Given the description of an element on the screen output the (x, y) to click on. 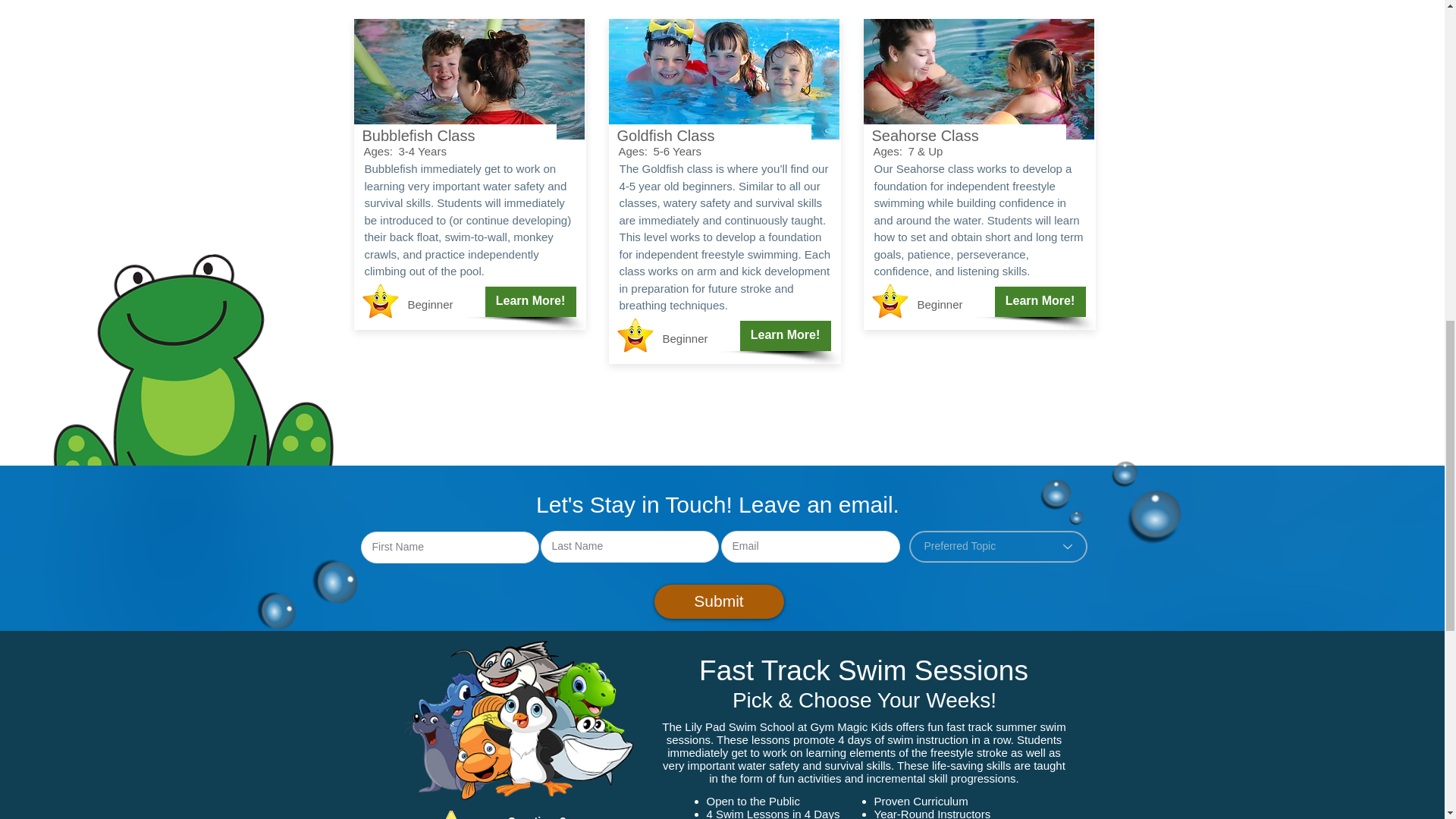
Learn More! (785, 335)
Learn More! (530, 301)
Submit (718, 600)
Learn More! (1040, 301)
